Given the description of an element on the screen output the (x, y) to click on. 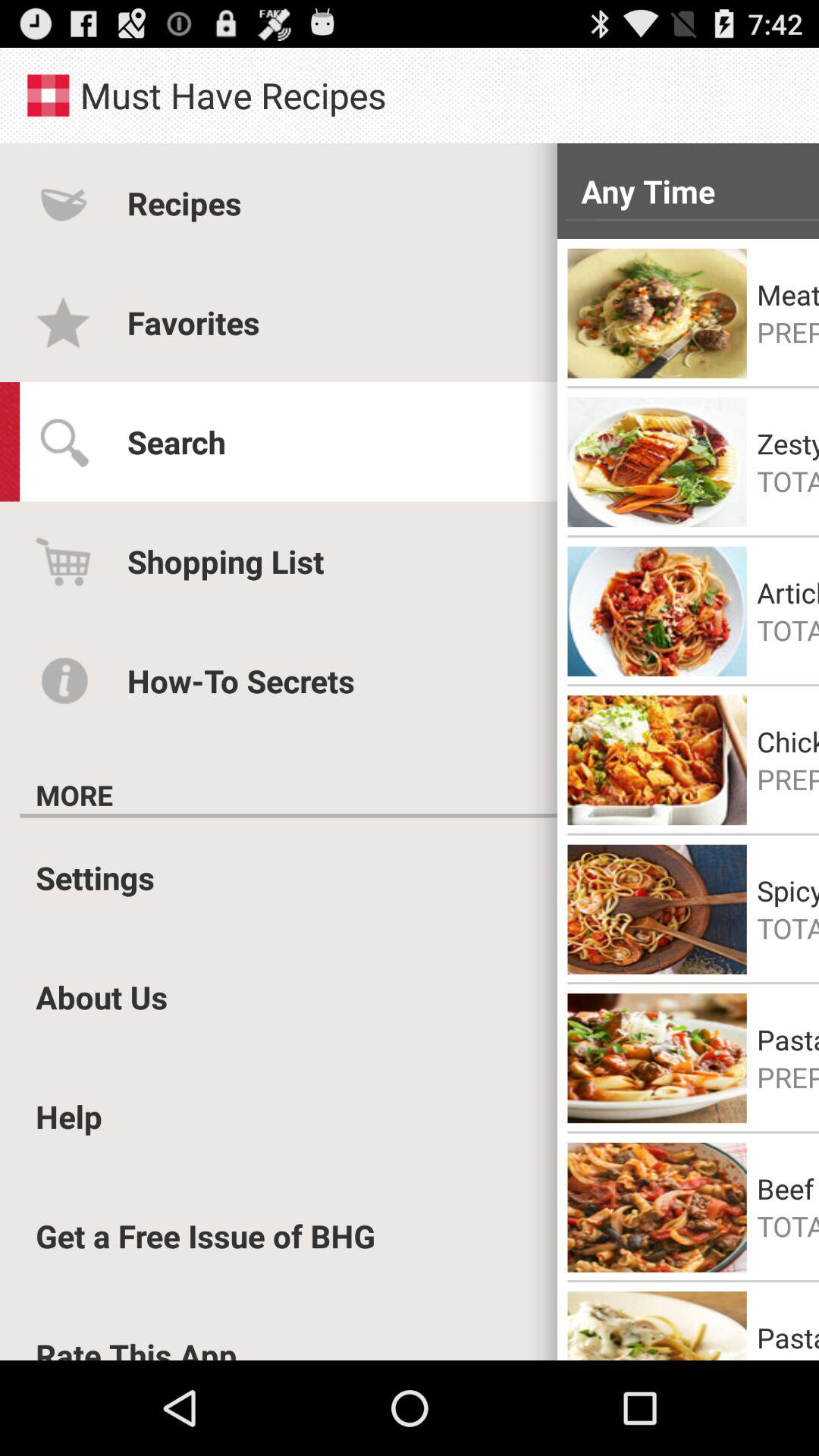
choose the app below the favorites app (176, 441)
